Given the description of an element on the screen output the (x, y) to click on. 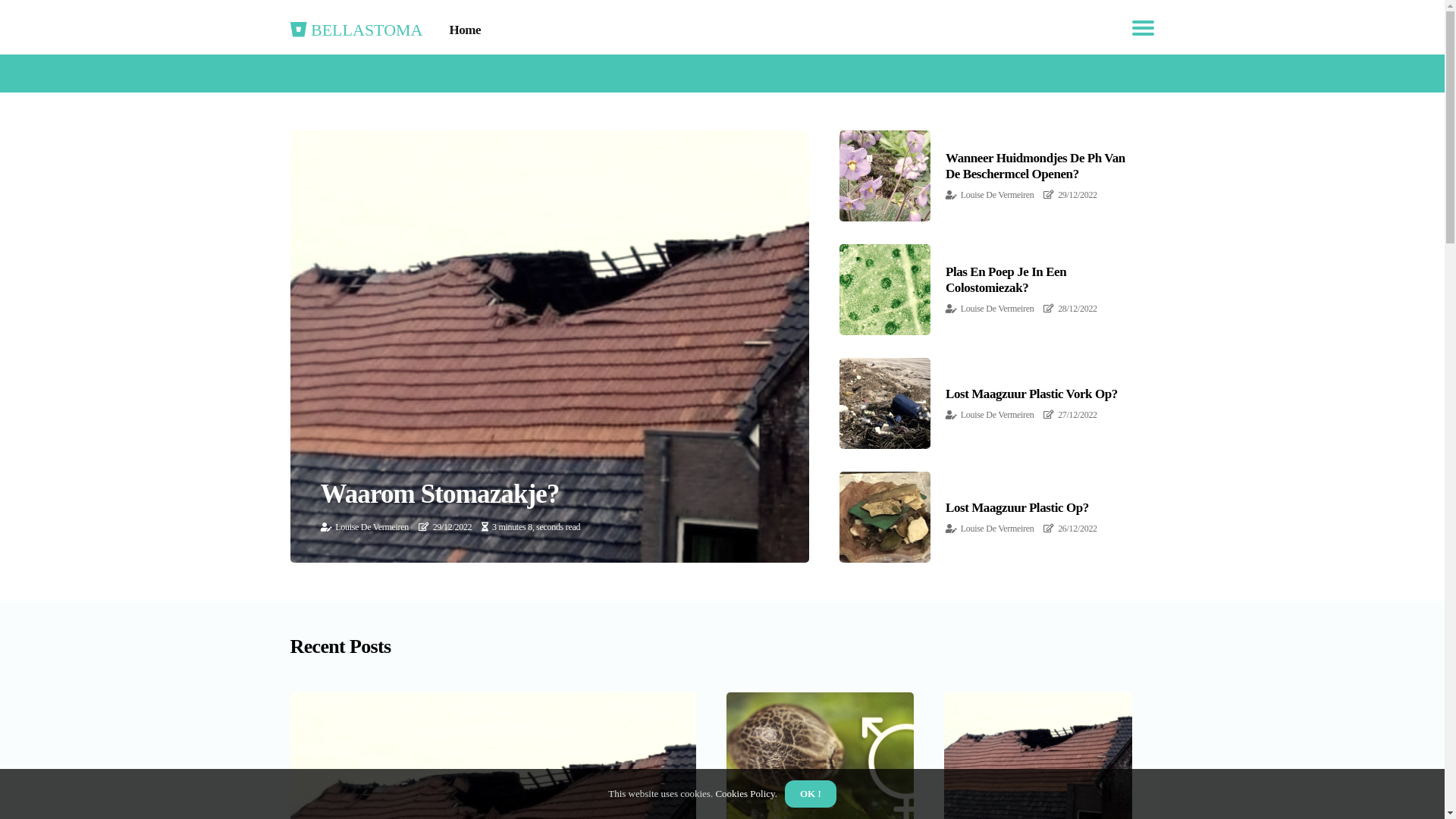
Plas En Poep Je In Een Colostomiezak? Element type: text (1005, 279)
Waarom Stomazakje? Element type: text (439, 493)
Louise De Vermeiren Element type: text (997, 528)
Lost Maagzuur Plastic Op? Element type: text (1016, 507)
bellastoma Element type: text (355, 26)
Louise De Vermeiren Element type: text (371, 526)
Home Element type: text (464, 30)
Louise De Vermeiren Element type: text (997, 308)
Cookies Policy Element type: text (743, 793)
Louise De Vermeiren Element type: text (997, 414)
Lost Maagzuur Plastic Vork Op? Element type: text (1031, 393)
Louise De Vermeiren Element type: text (997, 194)
Wanneer Huidmondjes De Ph Van De Beschermcel Openen? Element type: text (1035, 165)
